Given the description of an element on the screen output the (x, y) to click on. 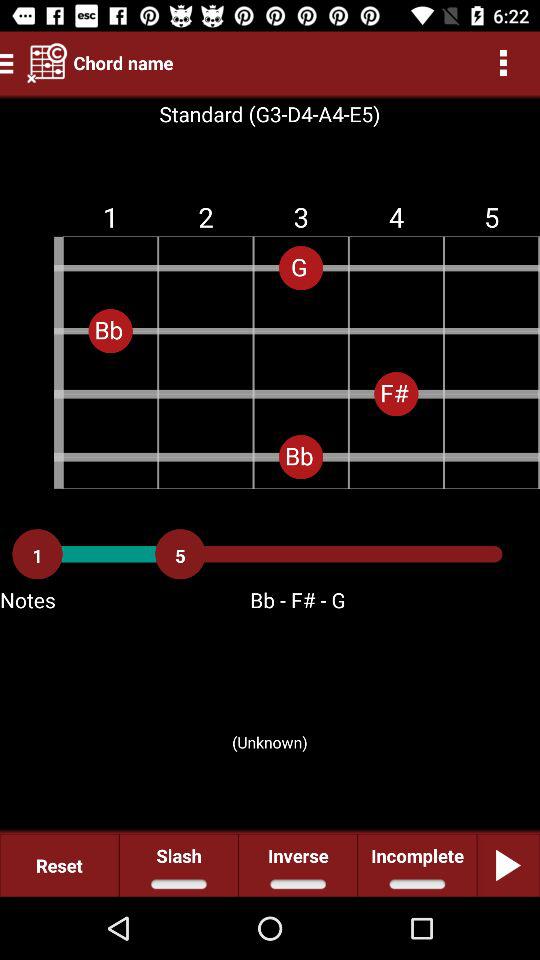
open item below the notes icon (270, 713)
